Given the description of an element on the screen output the (x, y) to click on. 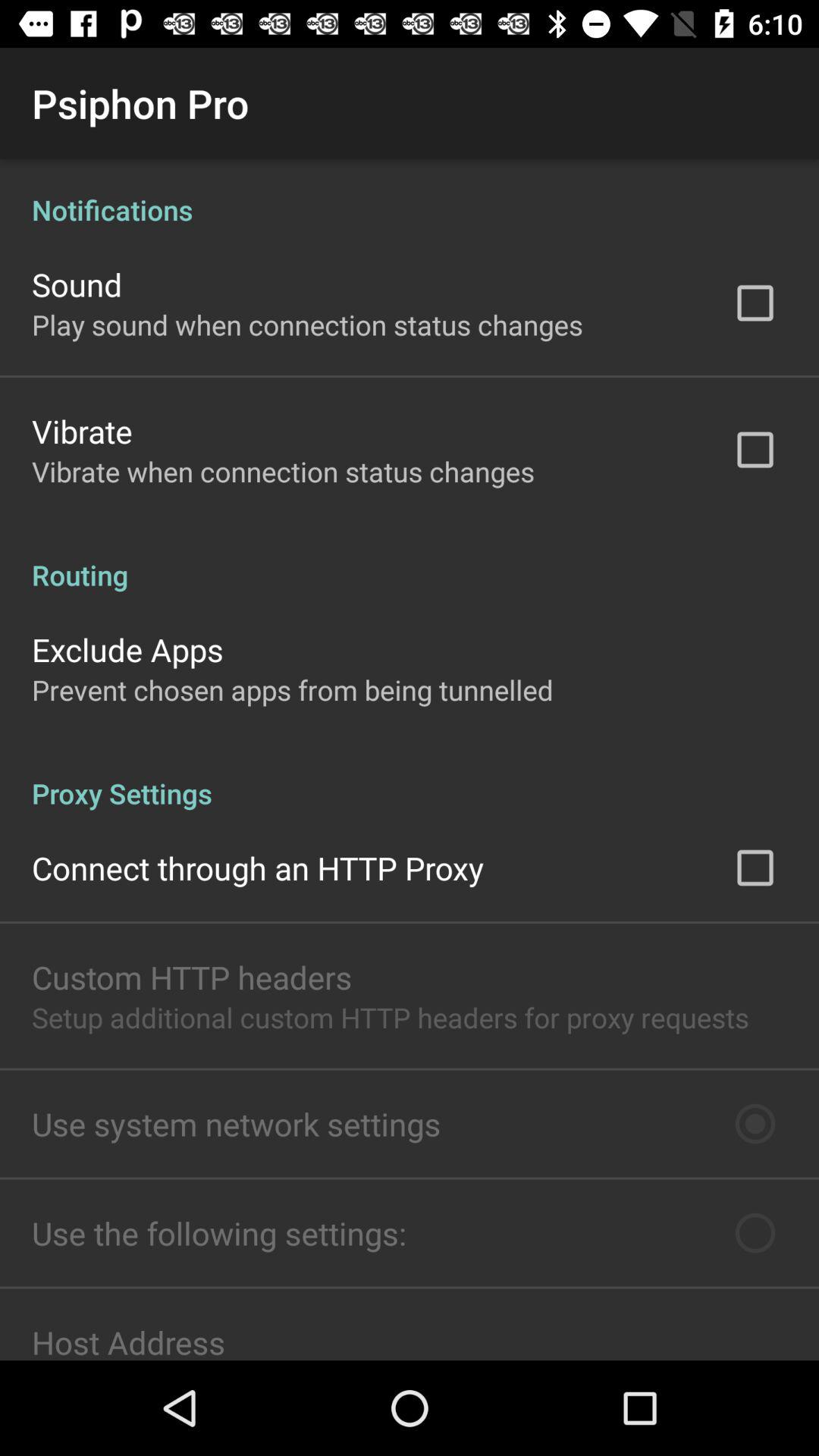
choose icon below use system network item (218, 1232)
